Given the description of an element on the screen output the (x, y) to click on. 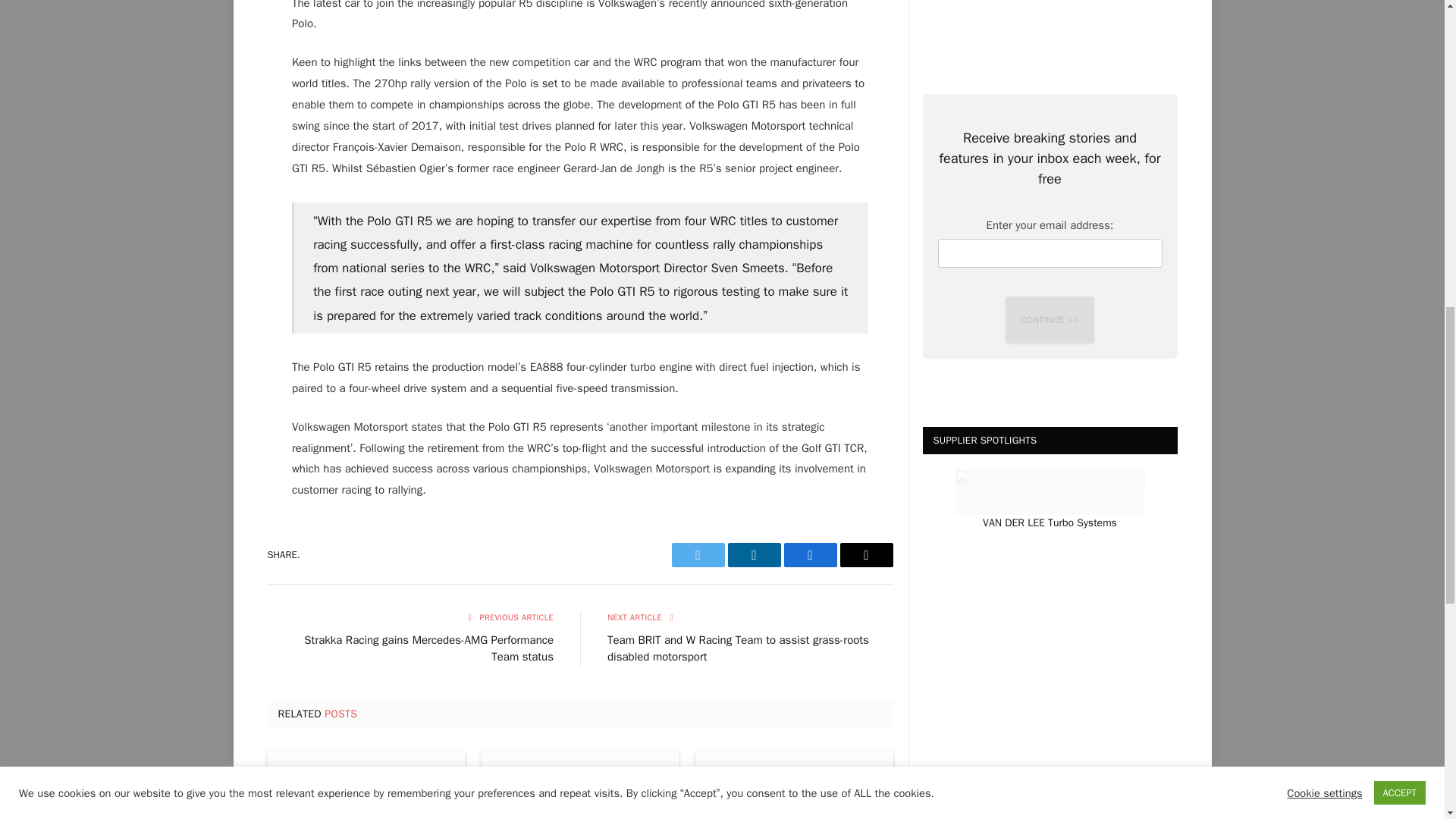
Share on LinkedIn (754, 554)
Share on Twitter (698, 554)
Share on Facebook (810, 554)
